Given the description of an element on the screen output the (x, y) to click on. 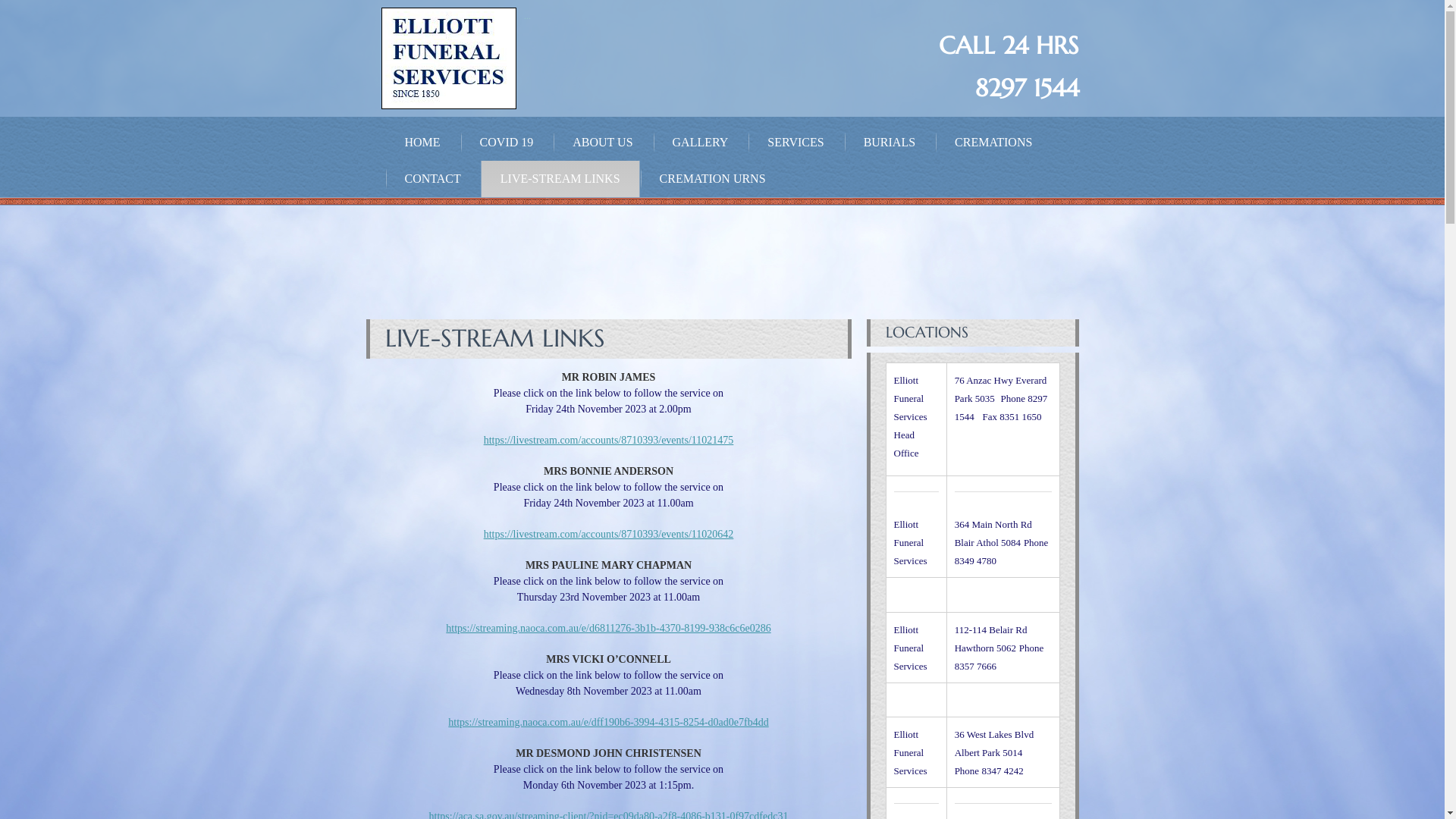
HOME Element type: text (422, 142)
https://livestream.com/accounts/8710393/events/11021475 Element type: text (608, 439)
BURIALS Element type: text (889, 142)
https://livestream.com/accounts/8710393/events/11020642 Element type: text (608, 533)
COVID 19 Element type: text (506, 142)
ABOUT US Element type: text (602, 142)
Elliott Funeral Services Element type: text (369, 120)
CREMATIONS Element type: text (993, 142)
CONTACT Element type: text (432, 178)
CREMATION URNS Element type: text (712, 178)
whatever Element type: hover (447, 58)
SERVICES Element type: text (795, 142)
GALLERY Element type: text (700, 142)
LIVE-STREAM LINKS Element type: text (560, 178)
